Given the description of an element on the screen output the (x, y) to click on. 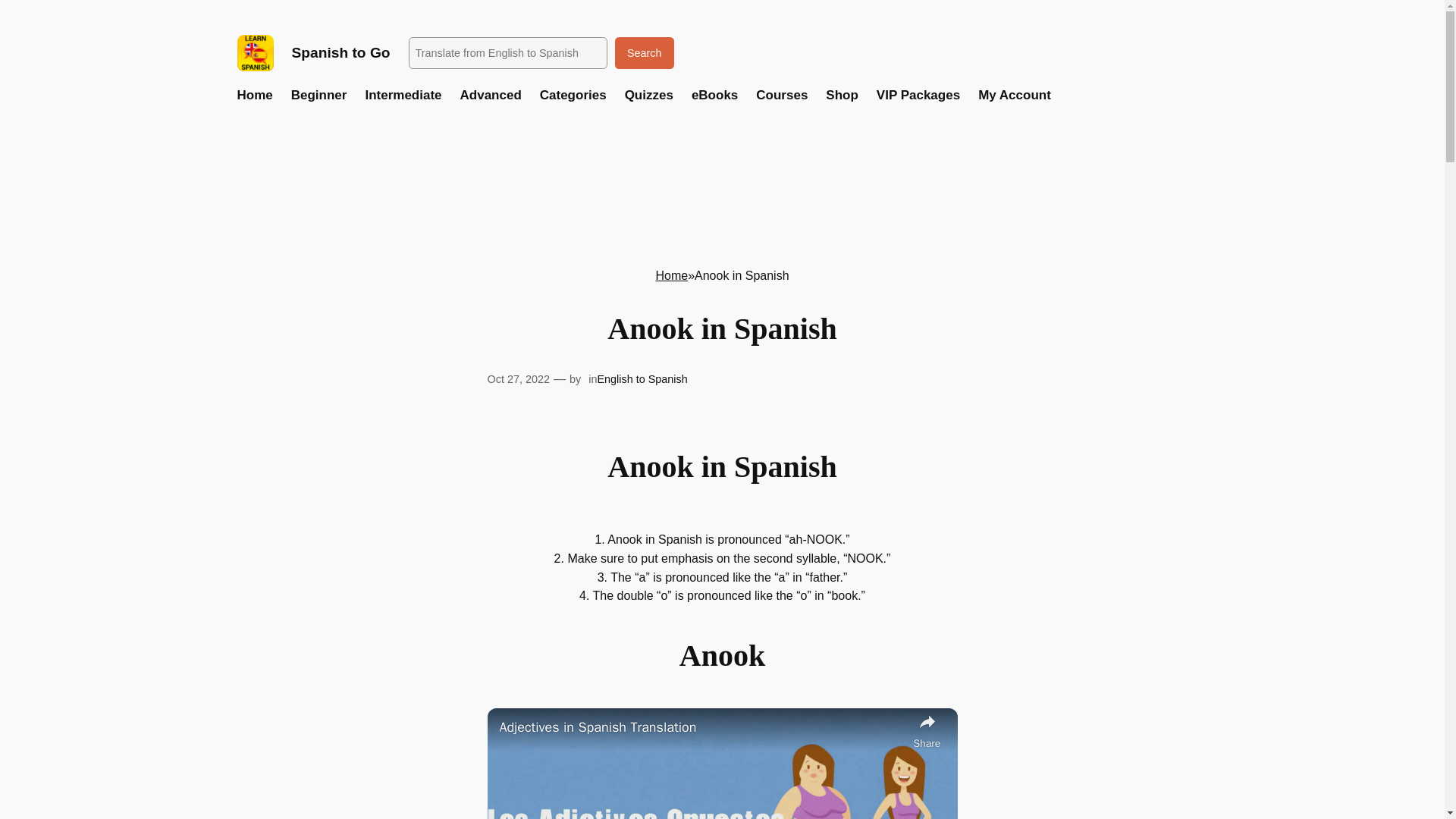
Advanced (490, 95)
VIP Packages (917, 95)
Shop (842, 95)
Courses (781, 95)
Play Video (721, 818)
Oct 27, 2022 (517, 378)
Quizzes (648, 95)
Categories (573, 95)
Home (253, 95)
Intermediate (403, 95)
My Account (1014, 95)
Beginner (319, 95)
Home (671, 275)
eBooks (714, 95)
